Given the description of an element on the screen output the (x, y) to click on. 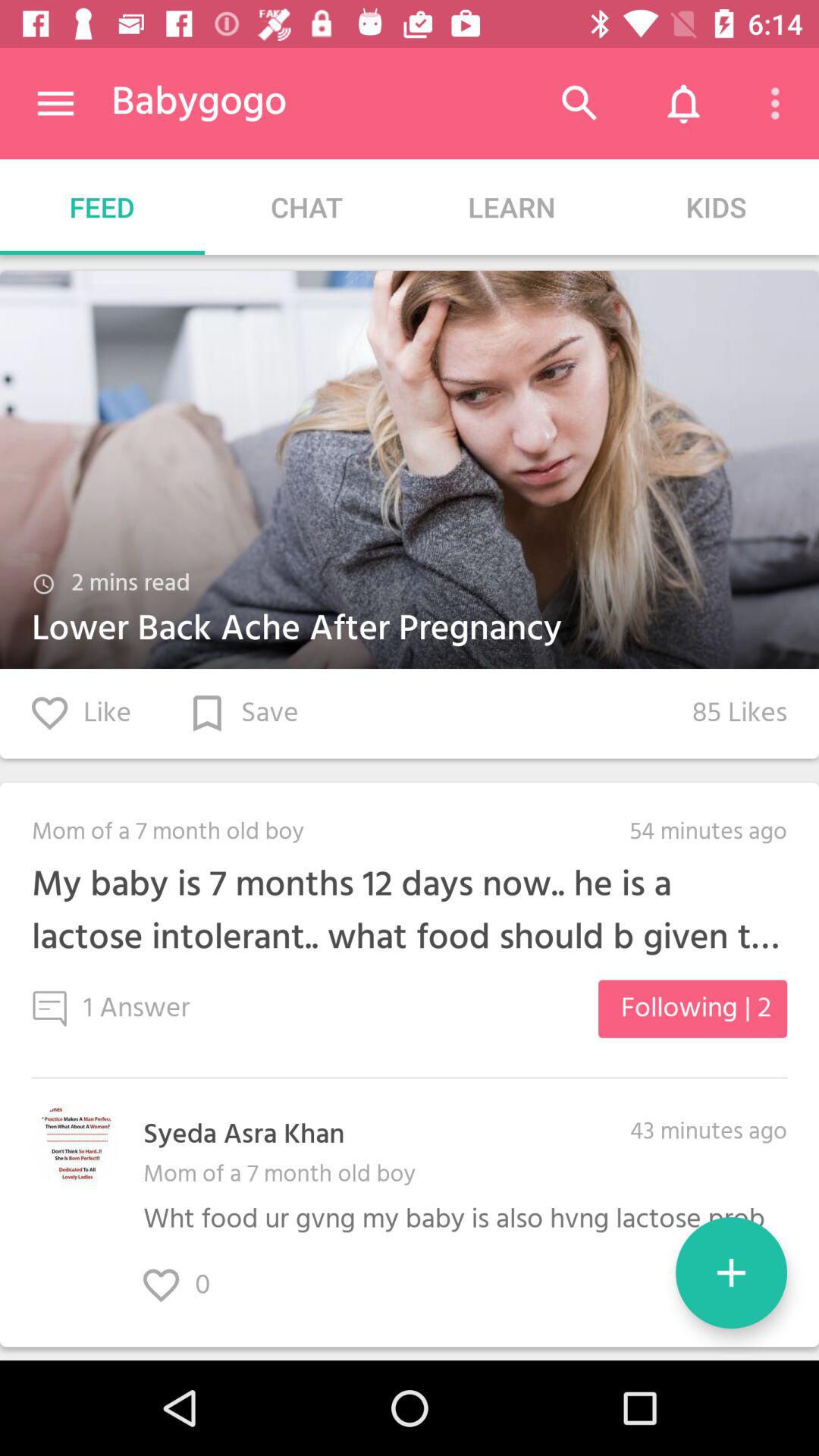
scroll until the  following | 2 item (692, 1008)
